Given the description of an element on the screen output the (x, y) to click on. 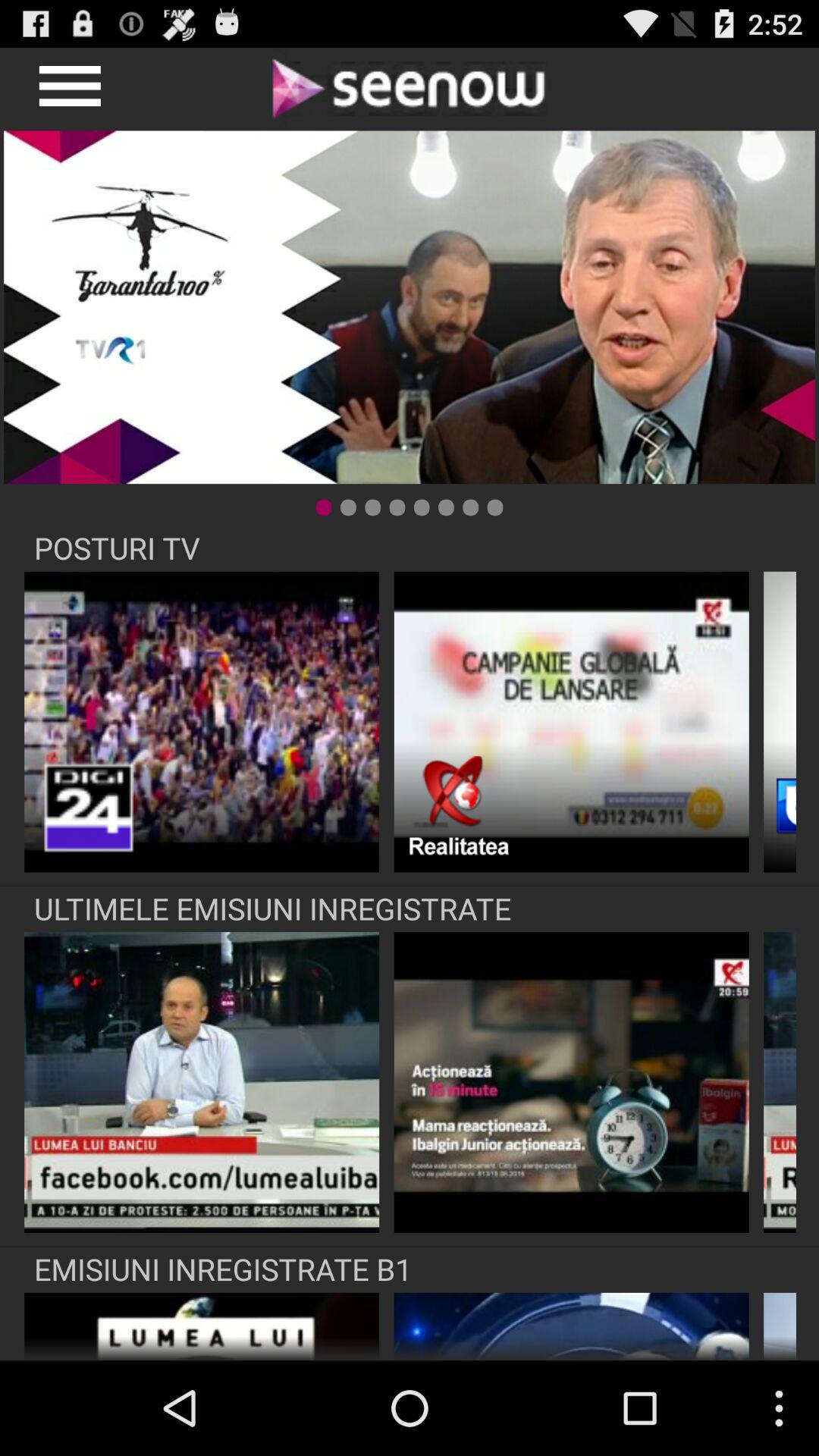
go to profile option (68, 87)
